Given the description of an element on the screen output the (x, y) to click on. 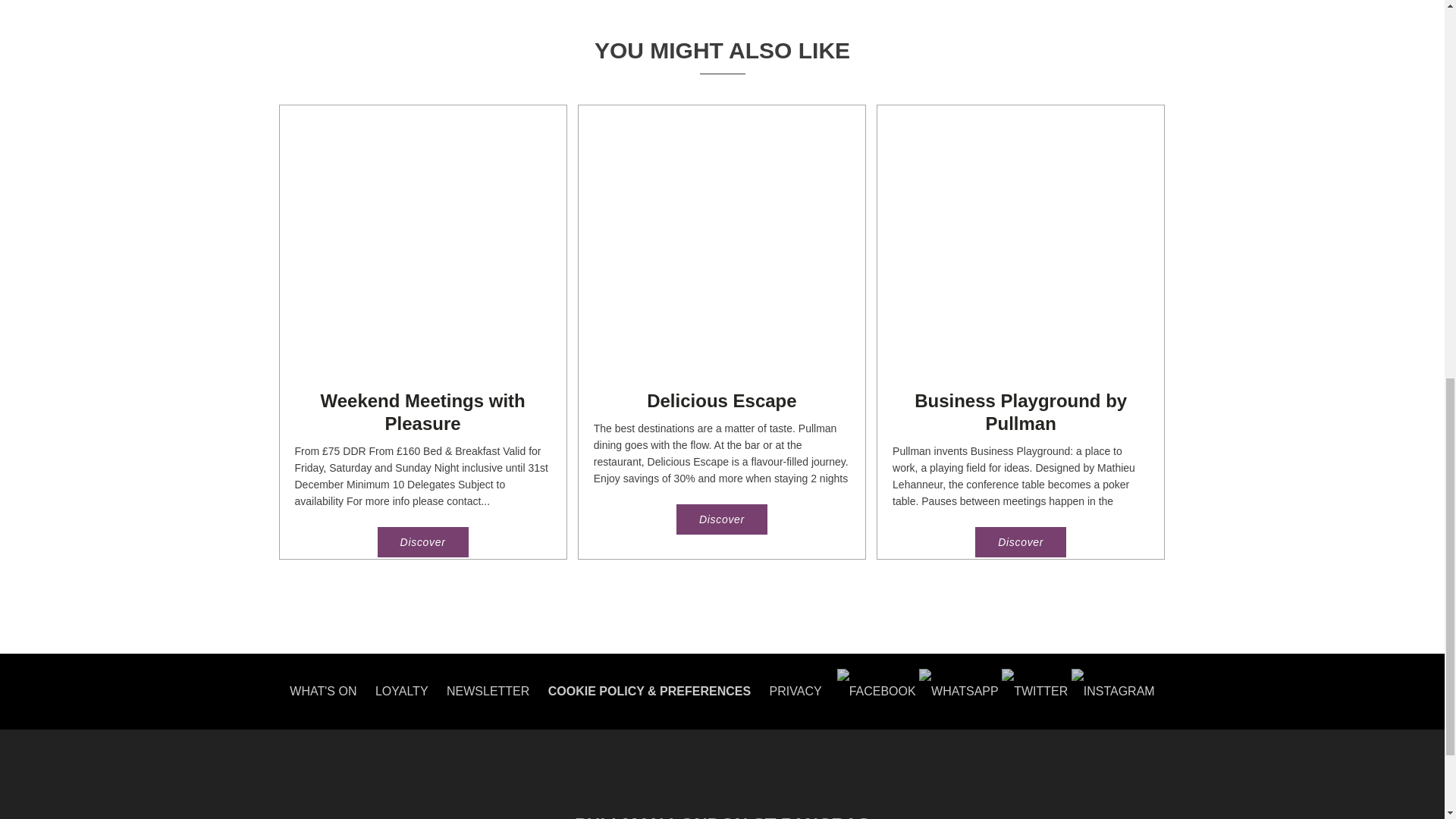
LOYALTY (401, 690)
Discover (1020, 542)
WHAT'S ON (322, 690)
Discover (722, 519)
NEWSLETTER (487, 690)
PRIVACY (796, 690)
Discover (422, 542)
